Given the description of an element on the screen output the (x, y) to click on. 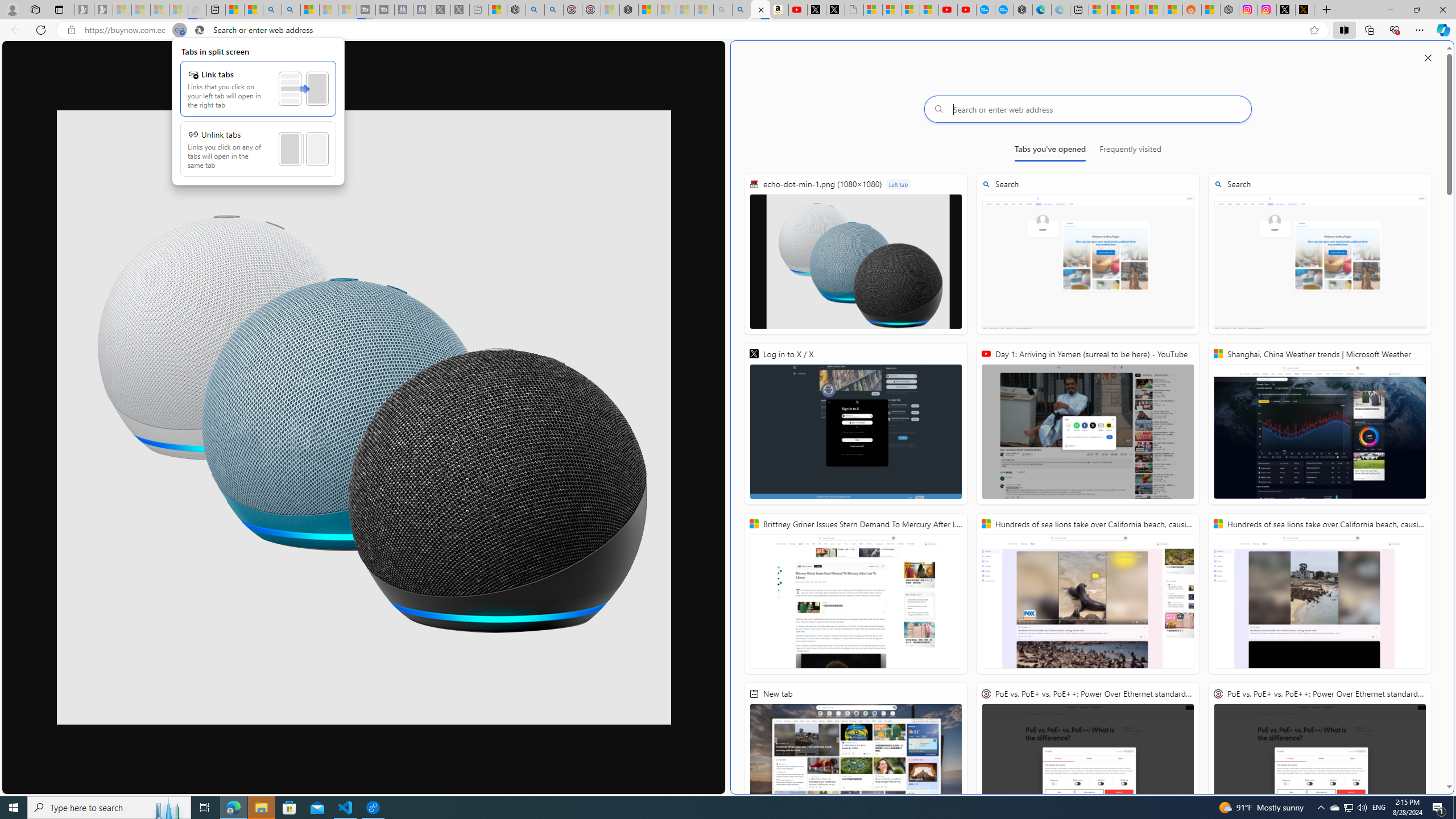
Class: SubmenuView (257, 111)
YouTube Kids - An App Created for Kids to Explore Content (966, 9)
poe - Search (534, 9)
poe ++ standard - Search (553, 9)
Day 1: Arriving in Yemen (surreal to be here) - YouTube (797, 9)
Microsoft account | Microsoft Account Privacy Settings (1098, 9)
Amazon Echo Dot PNG - Search Images (741, 9)
